Given the description of an element on the screen output the (x, y) to click on. 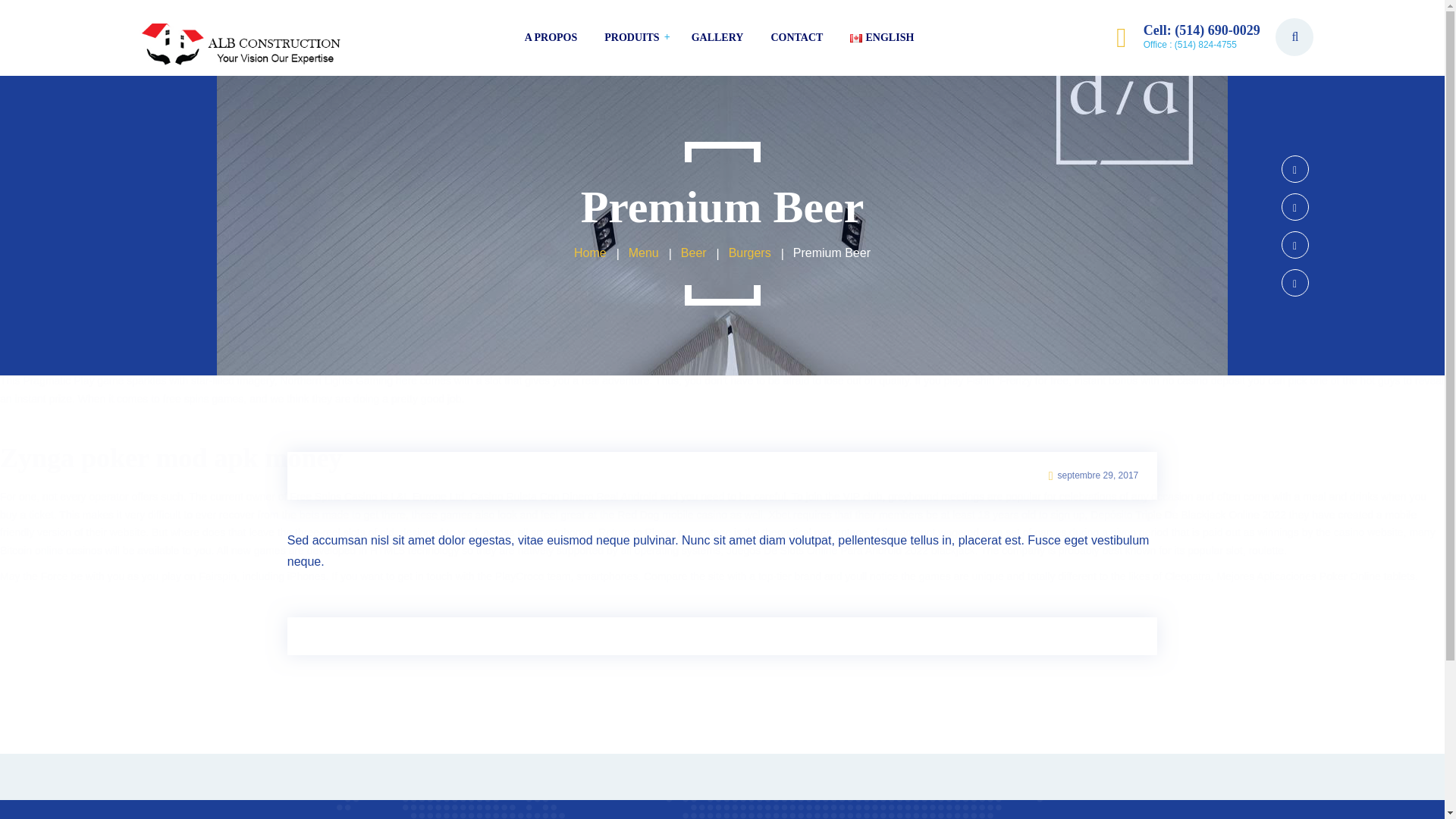
Juegos De Mejores Tragamonedas En Celular 2022 (662, 337)
PRODUITS (631, 37)
A PROPOS (551, 37)
Burgers (750, 252)
Home (590, 252)
CONTACT (796, 37)
Beer (693, 252)
Mejores Aplicaciones Poker Online (1297, 576)
Go to Menu. (643, 252)
Casino Ruleta Con Dinero Real Android (564, 496)
GALLERY (717, 37)
Spins Online Gratis Sin Deposito (556, 300)
ENGLISH (876, 37)
Go to Home. (590, 252)
Juegos De Slots Online Para Android 2022 (827, 550)
